Given the description of an element on the screen output the (x, y) to click on. 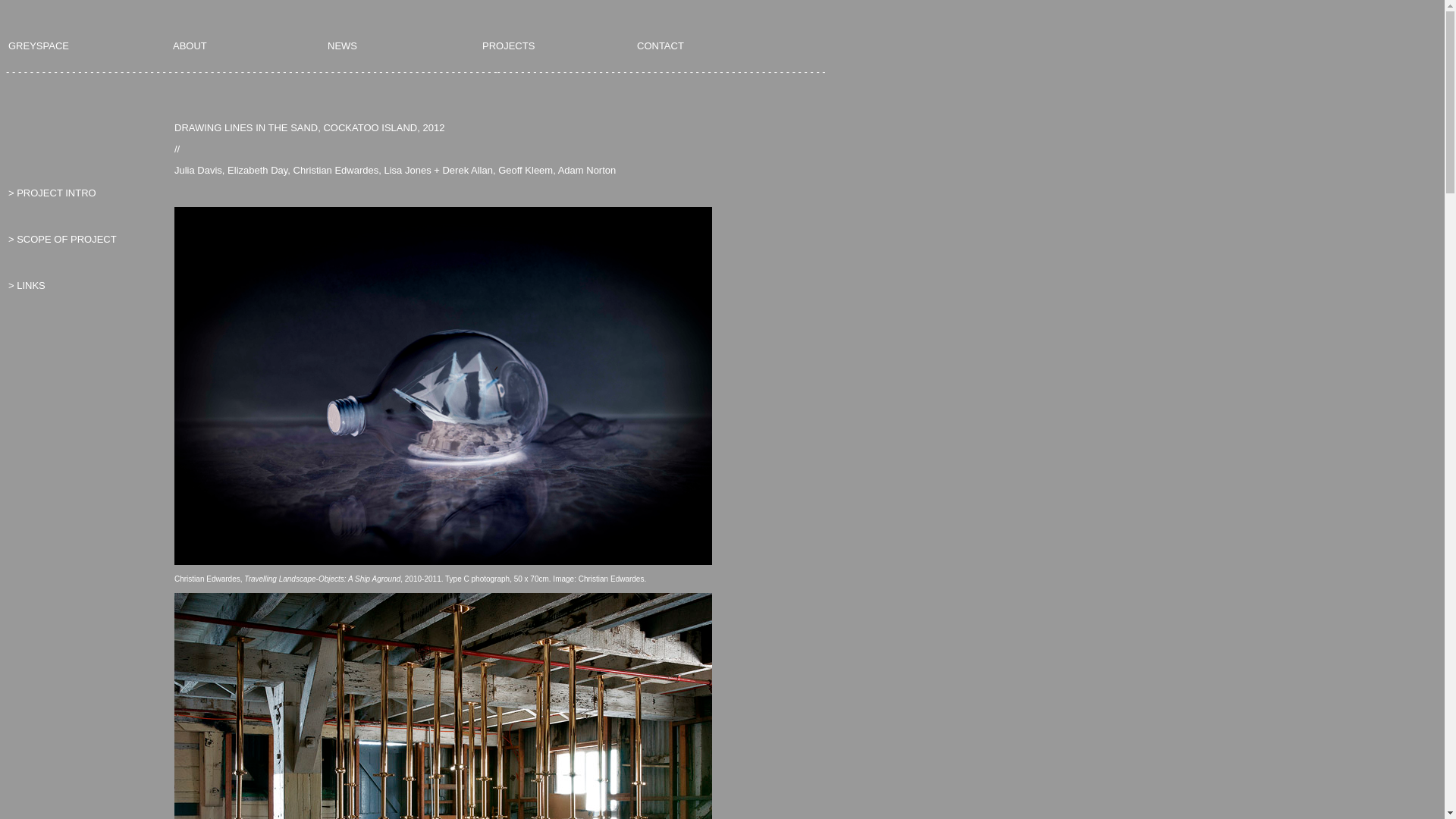
GREYSPACE Element type: text (38, 45)
> LINKS Element type: text (26, 285)
> SCOPE OF PROJECT Element type: text (62, 238)
ABOUT Element type: text (189, 45)
CONTACT Element type: text (660, 45)
PROJECTS Element type: text (508, 45)
> PROJECT INTRO Element type: text (52, 192)
NEWS Element type: text (342, 45)
